Given the description of an element on the screen output the (x, y) to click on. 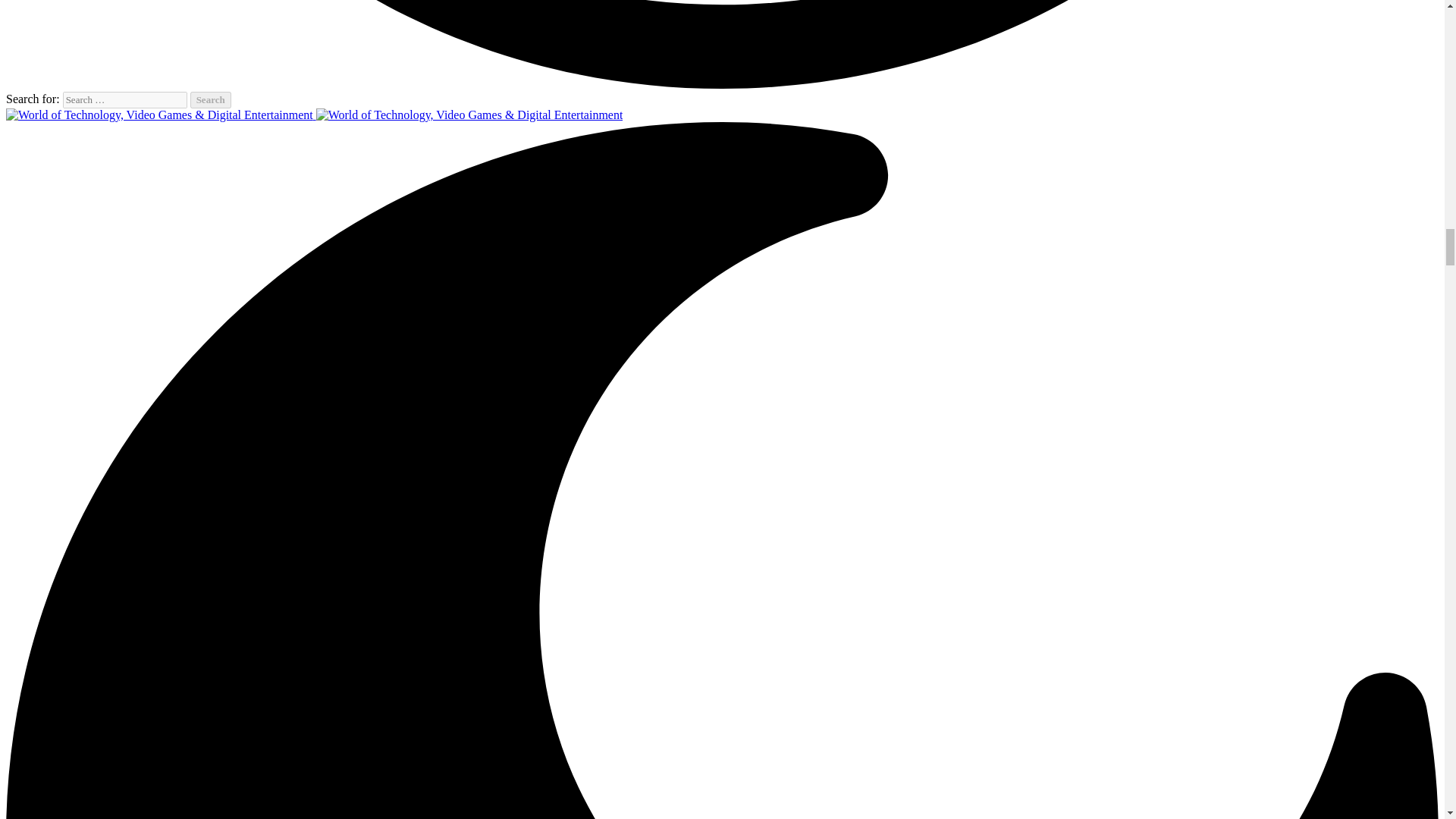
Search (210, 99)
Search (210, 99)
